Given the description of an element on the screen output the (x, y) to click on. 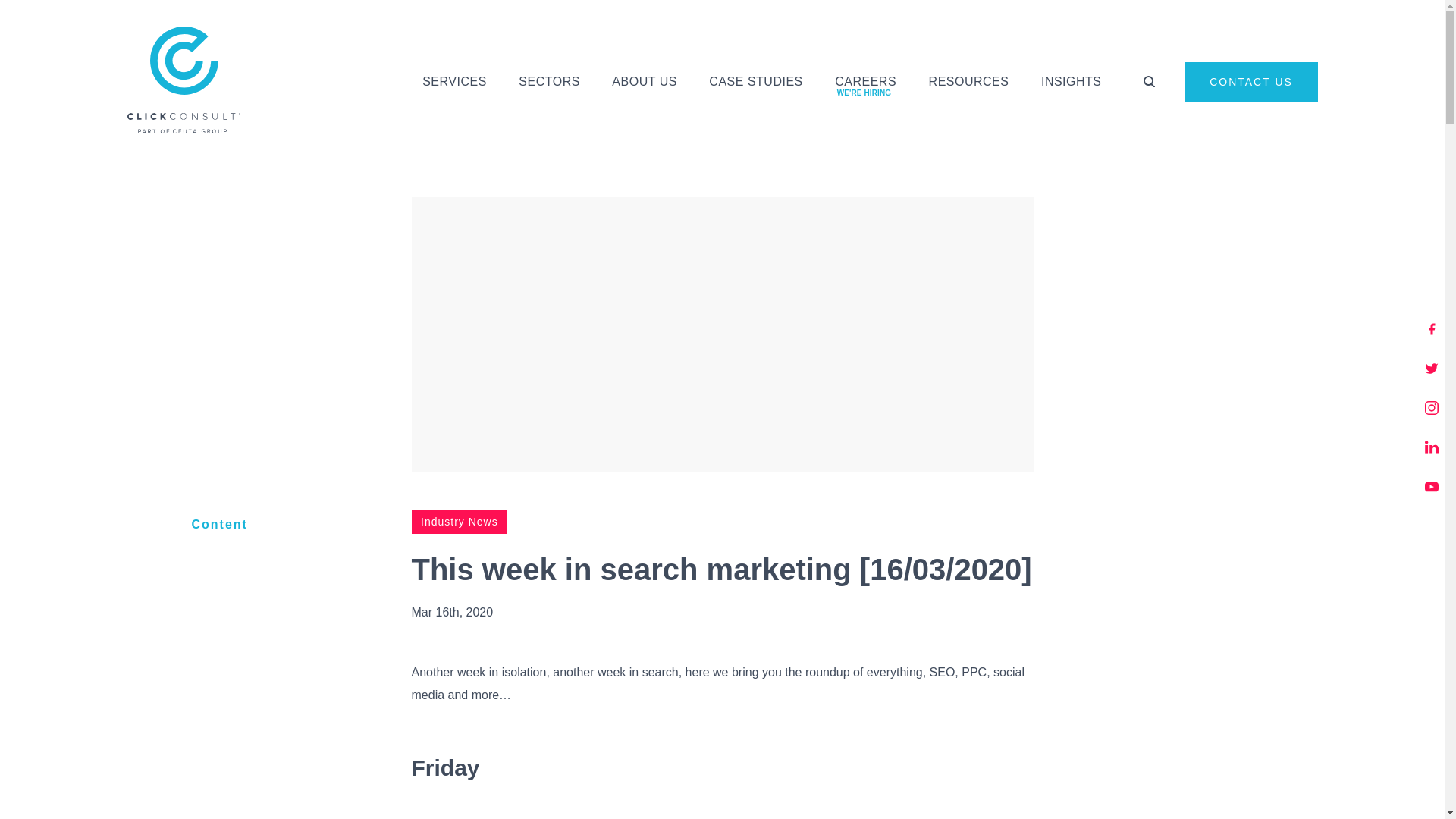
SERVICES (453, 79)
